Given the description of an element on the screen output the (x, y) to click on. 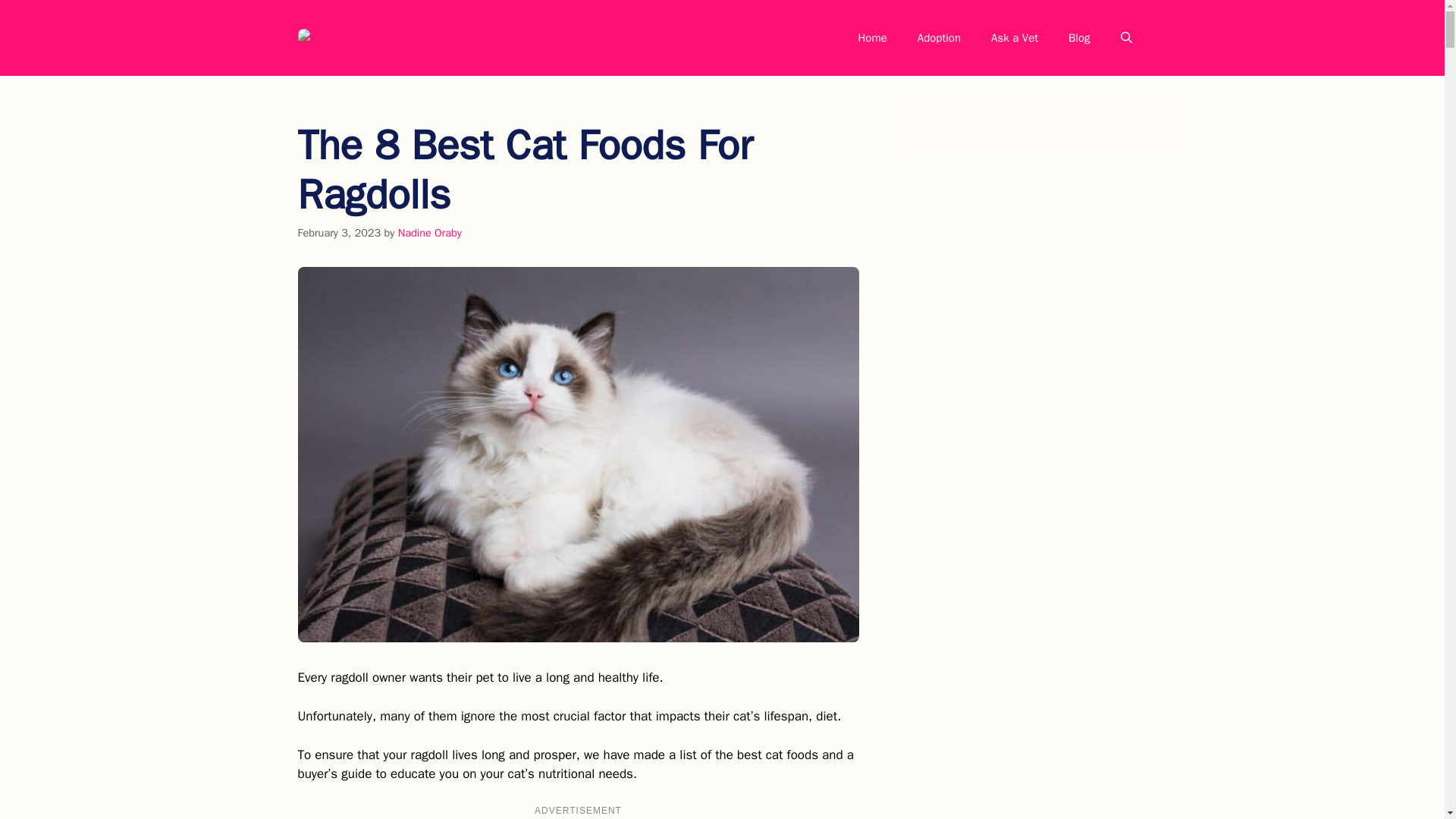
Blog (1078, 37)
Ask a Vet (1013, 37)
View all posts by Nadine Oraby (429, 232)
Nadine Oraby (429, 232)
Home (872, 37)
Adoption (938, 37)
